Given the description of an element on the screen output the (x, y) to click on. 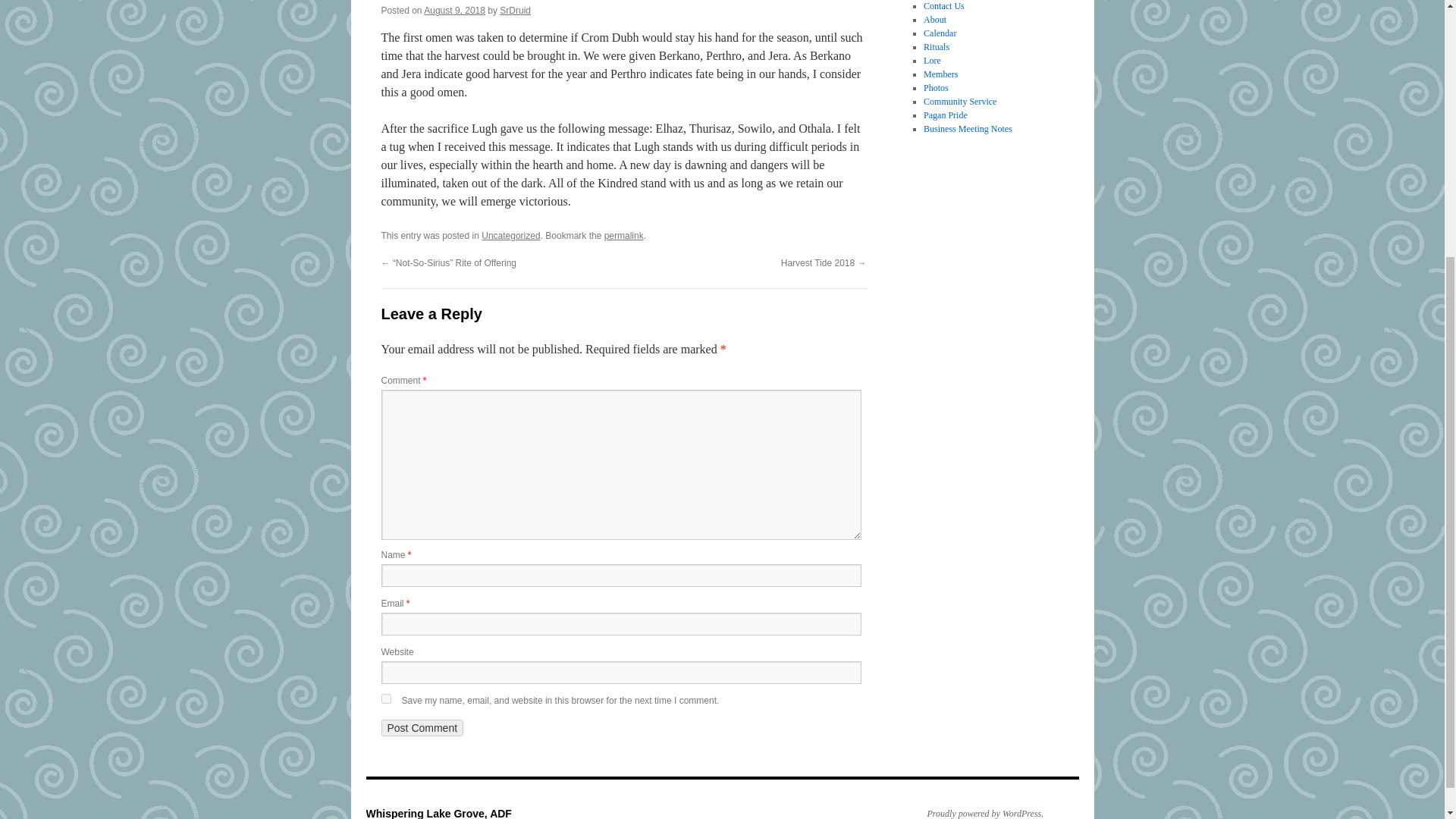
Uncategorized (510, 235)
12:10 pm (453, 9)
View all posts by SrDruid (515, 9)
permalink (623, 235)
Members (940, 73)
SrDruid (515, 9)
About (934, 19)
Permalink to Lughnassadh Omen (623, 235)
Calendar (939, 32)
Lore (931, 60)
Post Comment (421, 727)
Community Service (959, 101)
Pagan Pride (945, 114)
Business Meeting Notes (967, 128)
Post Comment (421, 727)
